Given the description of an element on the screen output the (x, y) to click on. 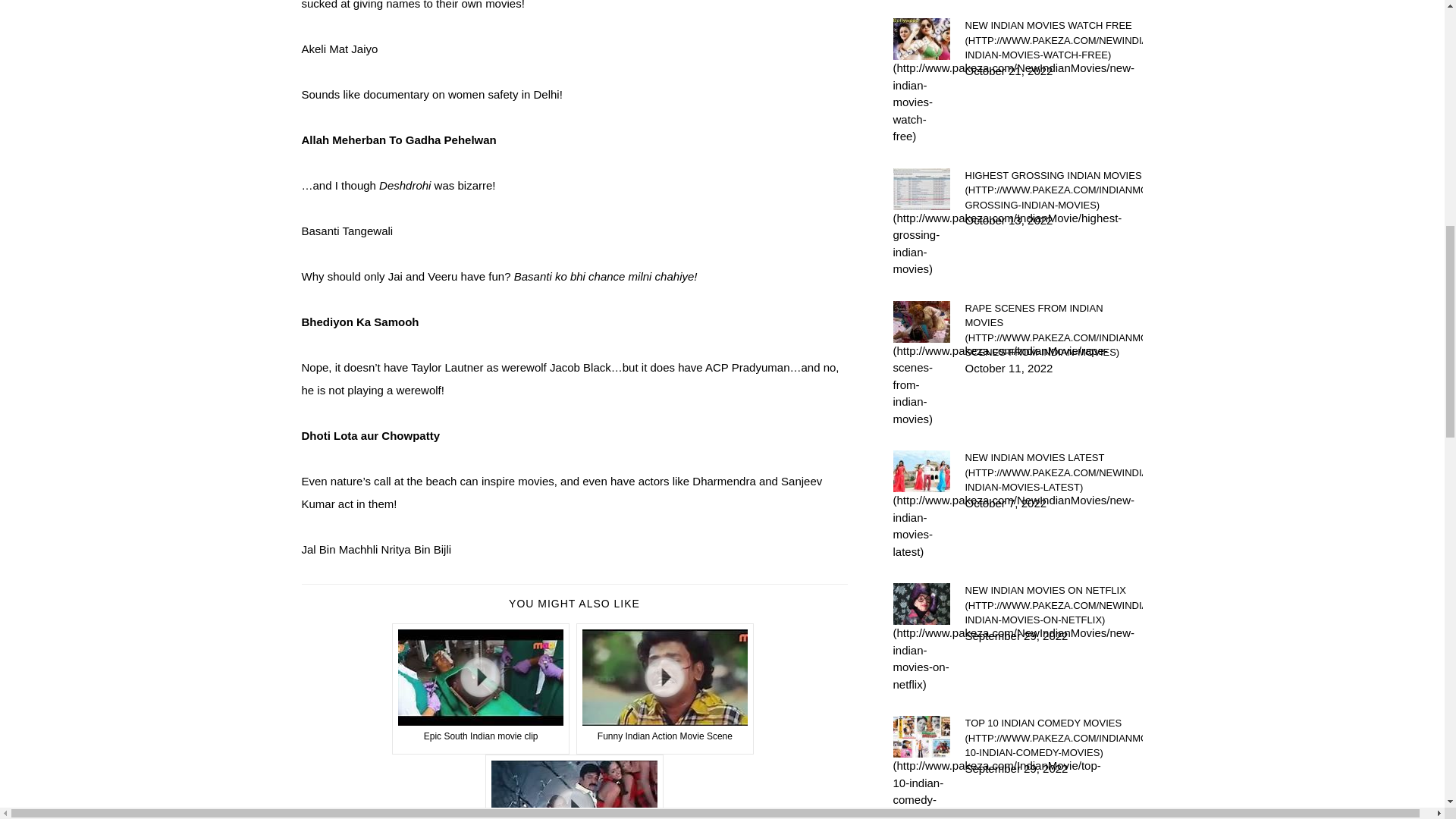
View this video from YouTube (665, 688)
NEW INDIAN MOVIES ON NETFLIX (1052, 605)
NEW INDIAN MOVIES WATCH FREE (1052, 40)
TOP 10 INDIAN COMEDY MOVIES (1052, 737)
HIGHEST GROSSING INDIAN MOVIES (1052, 190)
RAPE SCENES FROM INDIAN MOVIES (1052, 329)
View this video from YouTube (480, 688)
NEW INDIAN MOVIES LATEST (1052, 472)
View this video from Dailymotion (573, 786)
